Given the description of an element on the screen output the (x, y) to click on. 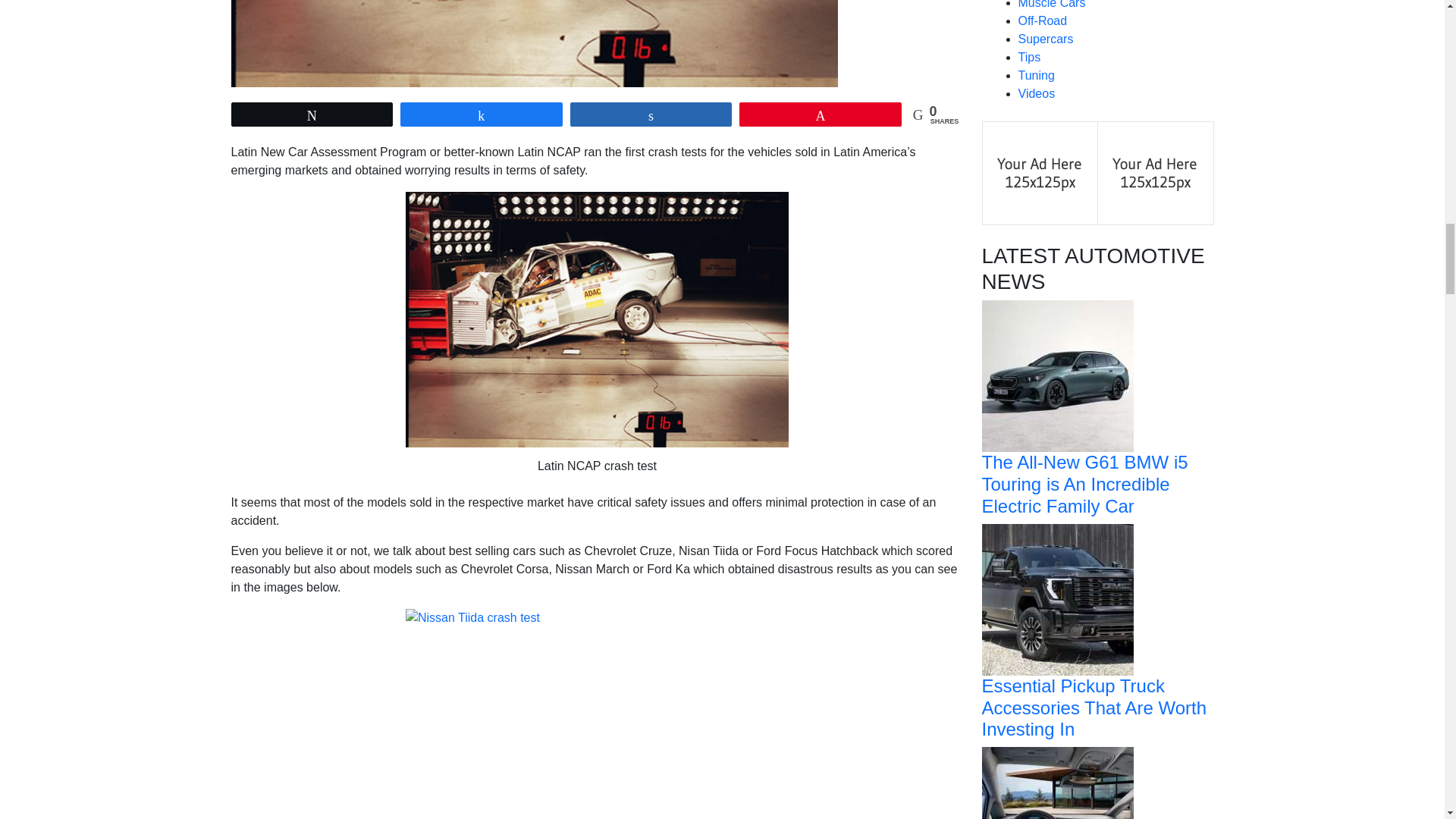
Advertise (1039, 172)
Advertise (1155, 172)
Our Top 5 Best Small Electric Cars in 2024 (1056, 816)
